Given the description of an element on the screen output the (x, y) to click on. 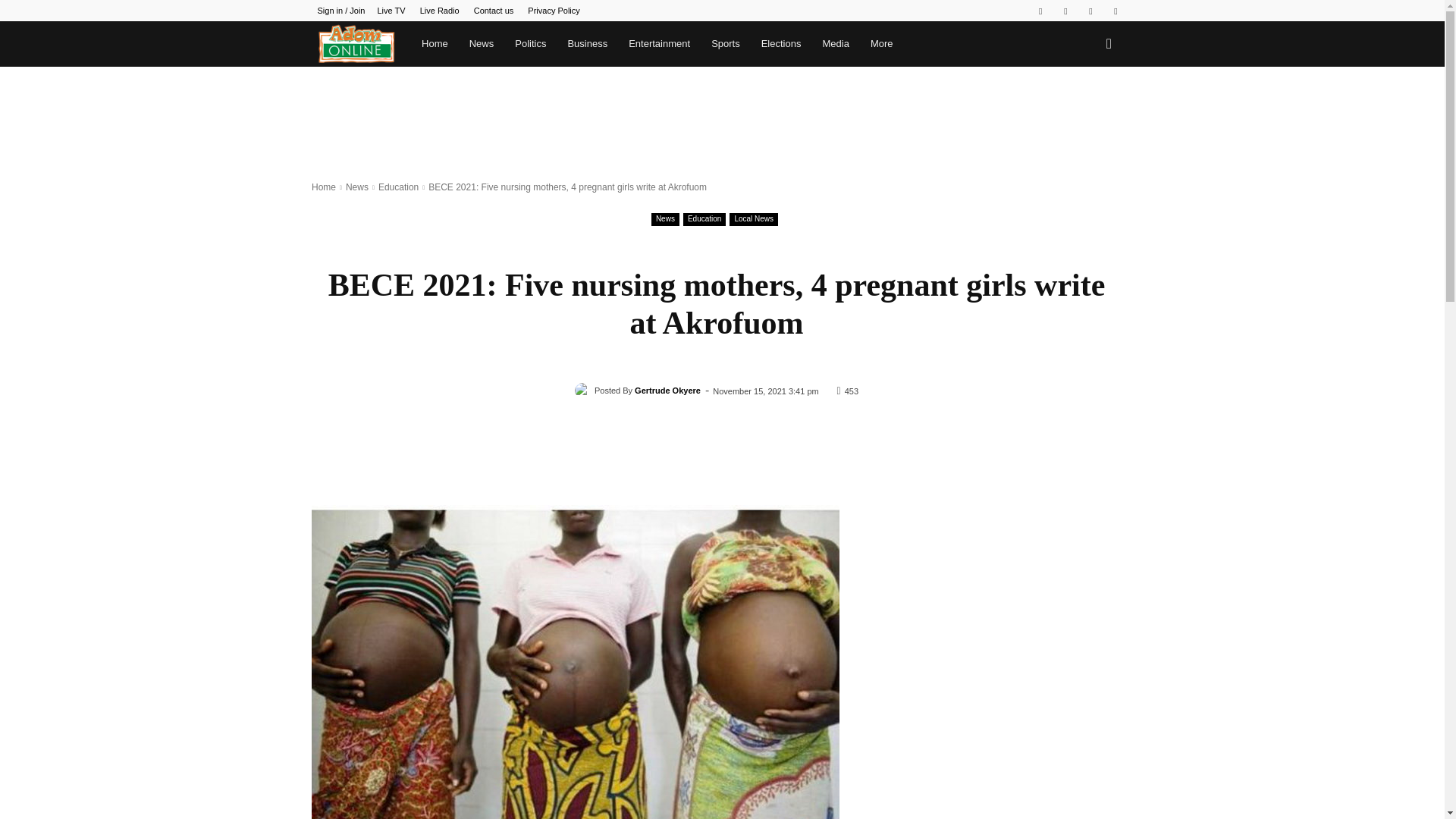
Live TV (390, 10)
Facebook (1040, 10)
Gertrude Okyere (584, 390)
Live Radio (440, 10)
Youtube (1114, 10)
View all posts in Education (398, 186)
Linkedin (1065, 10)
Privacy Policy (553, 10)
View all posts in News (357, 186)
Contact us (493, 10)
Adomonline Logo (356, 44)
Twitter (1090, 10)
